Given the description of an element on the screen output the (x, y) to click on. 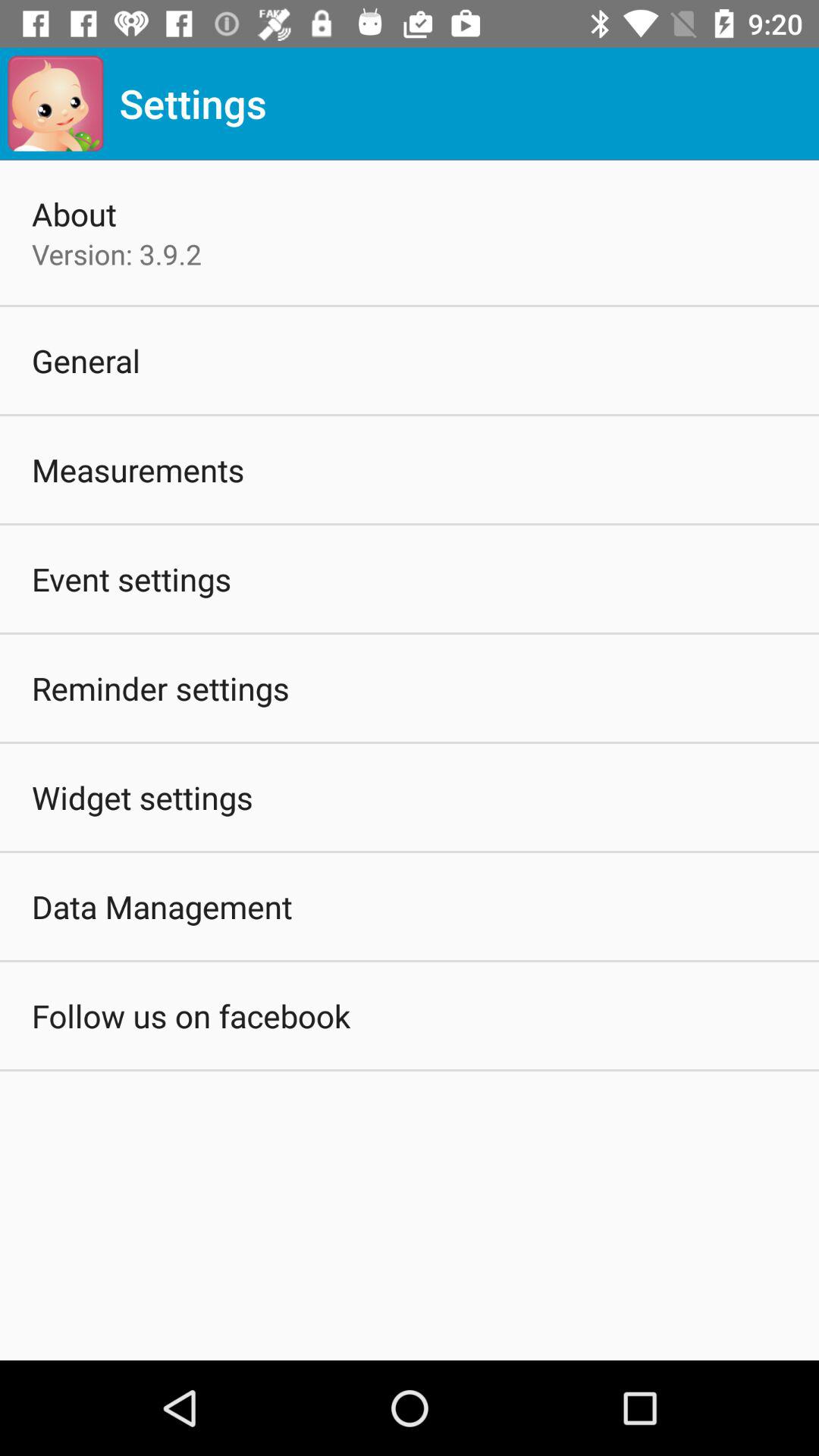
click icon below event settings icon (160, 687)
